Given the description of an element on the screen output the (x, y) to click on. 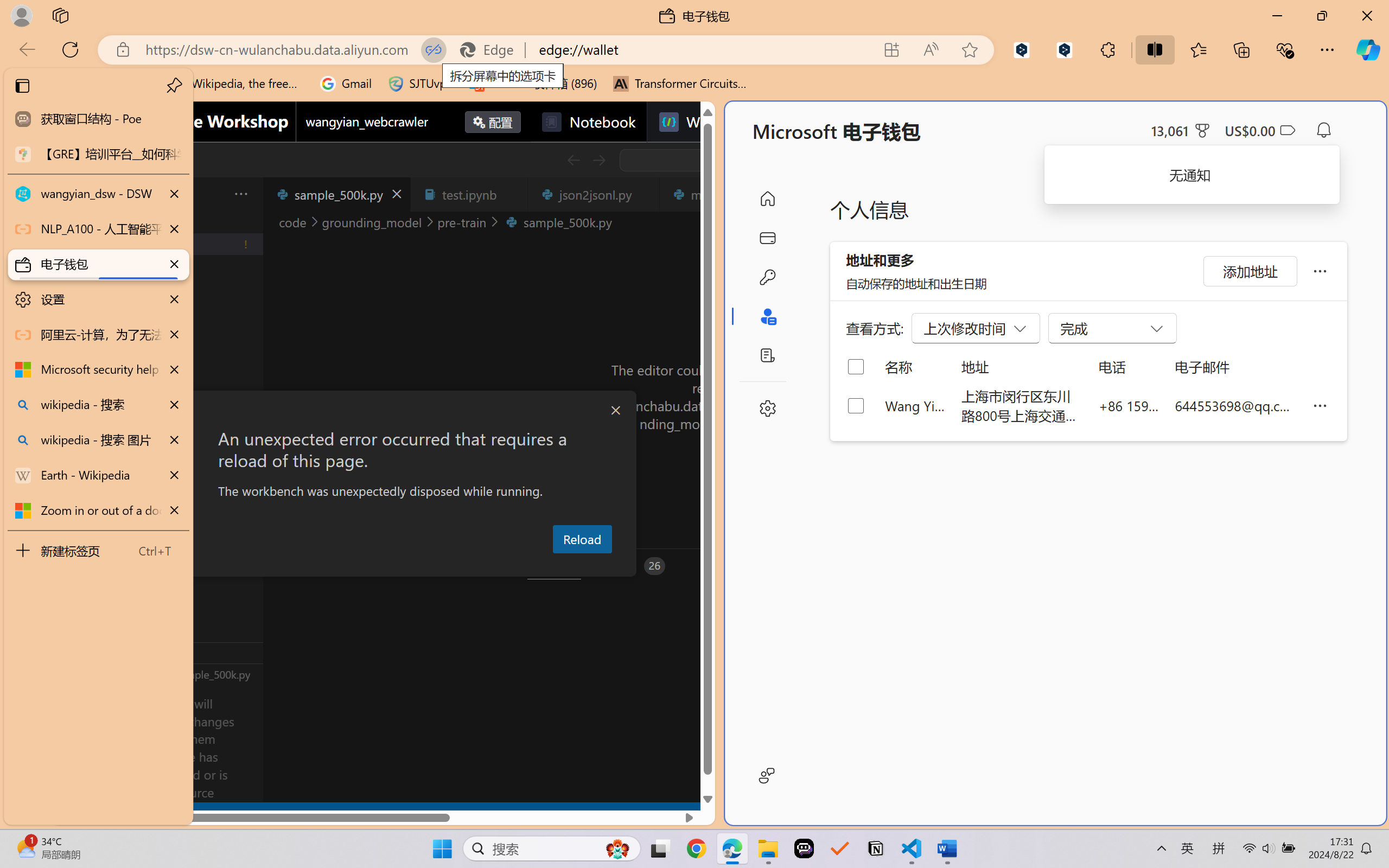
644553698@qq.com (1235, 405)
Wang Yian (914, 405)
Output (Ctrl+Shift+U) (377, 565)
Source Control (Ctrl+Shift+G) (73, 328)
Ports - 26 forwarded ports (632, 565)
